Given the description of an element on the screen output the (x, y) to click on. 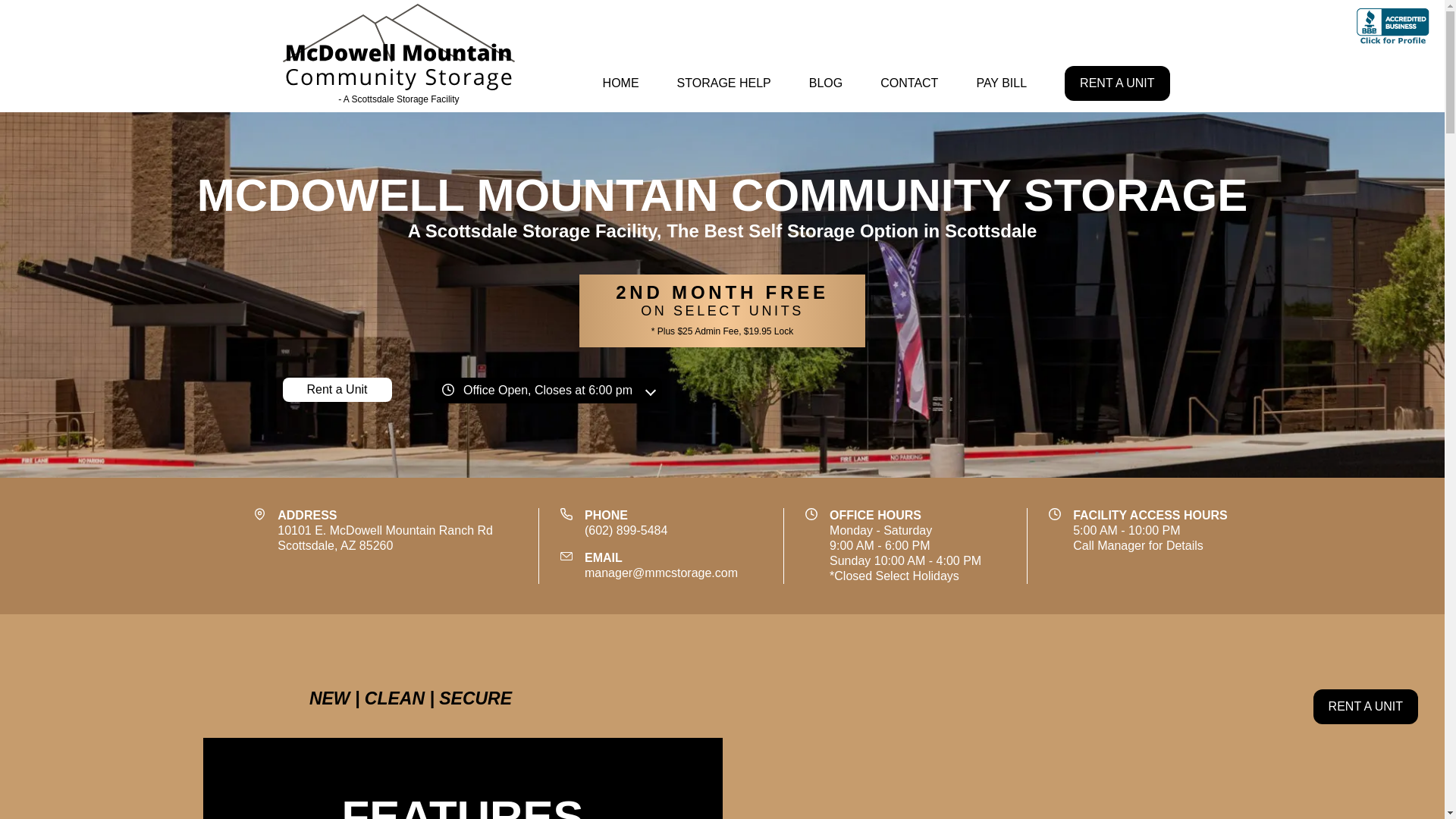
HOME (620, 83)
Office Open, Closes at 6:00 pm (547, 390)
BLOG (825, 83)
RENT A UNIT (1116, 83)
Rent a Unit (385, 538)
PAY BILL (336, 389)
CONTACT (1001, 83)
RENT A UNIT (908, 83)
- A Scottsdale Storage Facility (1365, 706)
